Given the description of an element on the screen output the (x, y) to click on. 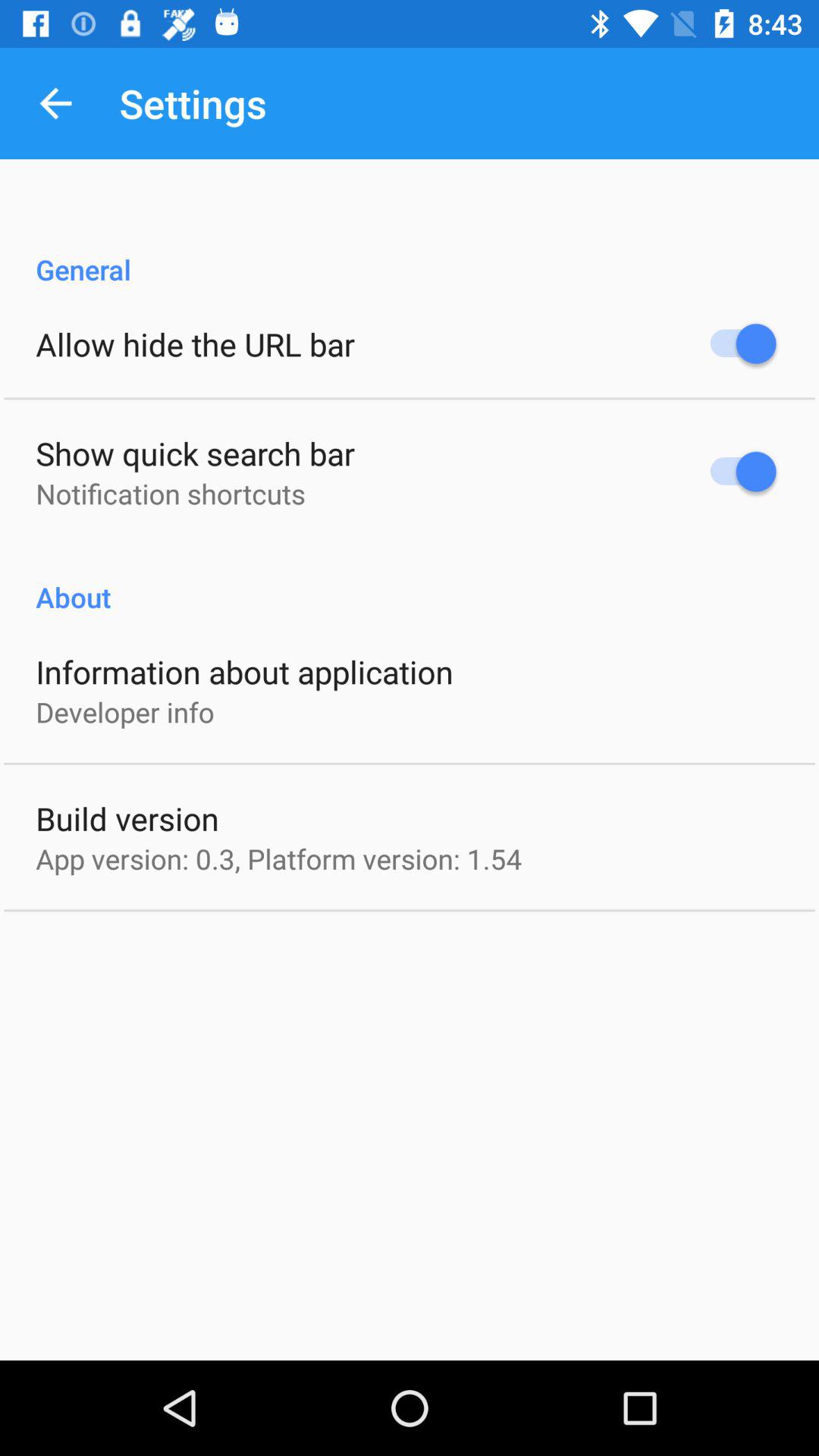
launch allow hide the icon (194, 343)
